Given the description of an element on the screen output the (x, y) to click on. 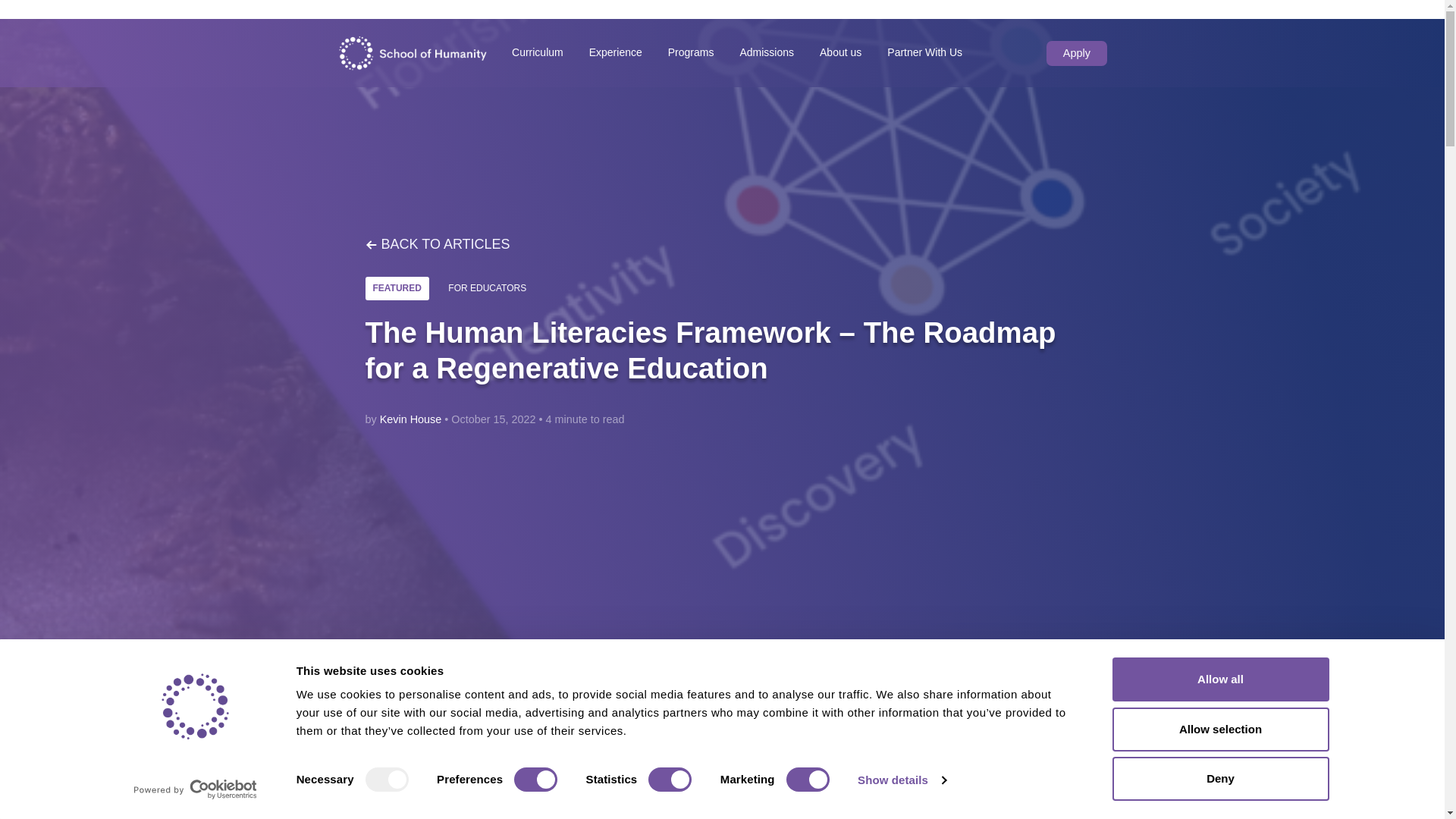
Allow selection (1219, 728)
Deny (1219, 778)
Allow all (1219, 679)
Curriculum (537, 60)
Show details (900, 780)
